Given the description of an element on the screen output the (x, y) to click on. 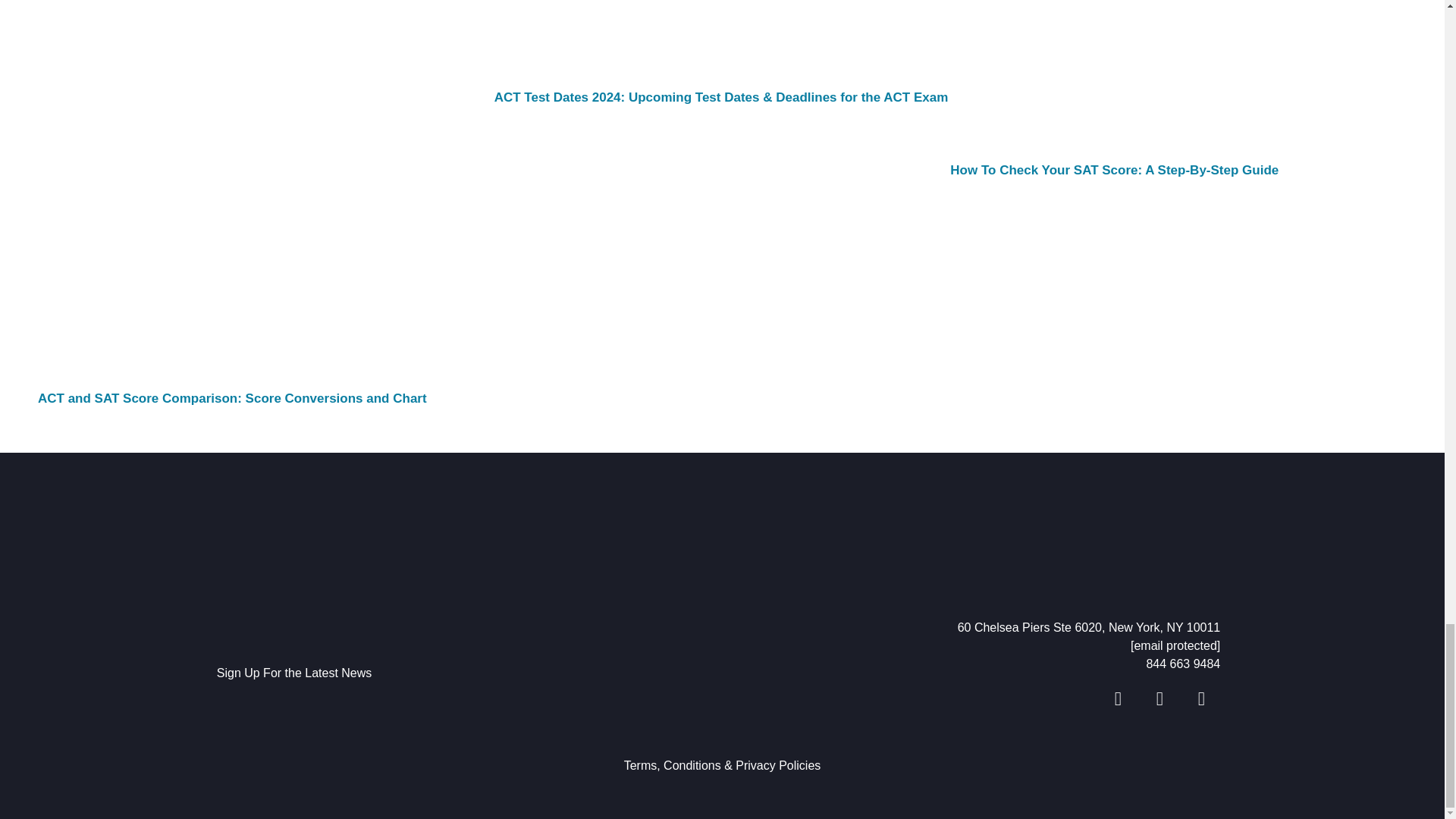
Facebook (1118, 699)
How To Check Your SAT Score: A Step-By-Step Guide (1114, 169)
ACT and SAT Score Comparison: Score Conversions and Chart (231, 398)
844 663 9484 (974, 664)
60 Chelsea Piers Ste 6020, New York, NY 10011 (974, 628)
Instagram (1201, 699)
Linkedin (1158, 699)
